Given the description of an element on the screen output the (x, y) to click on. 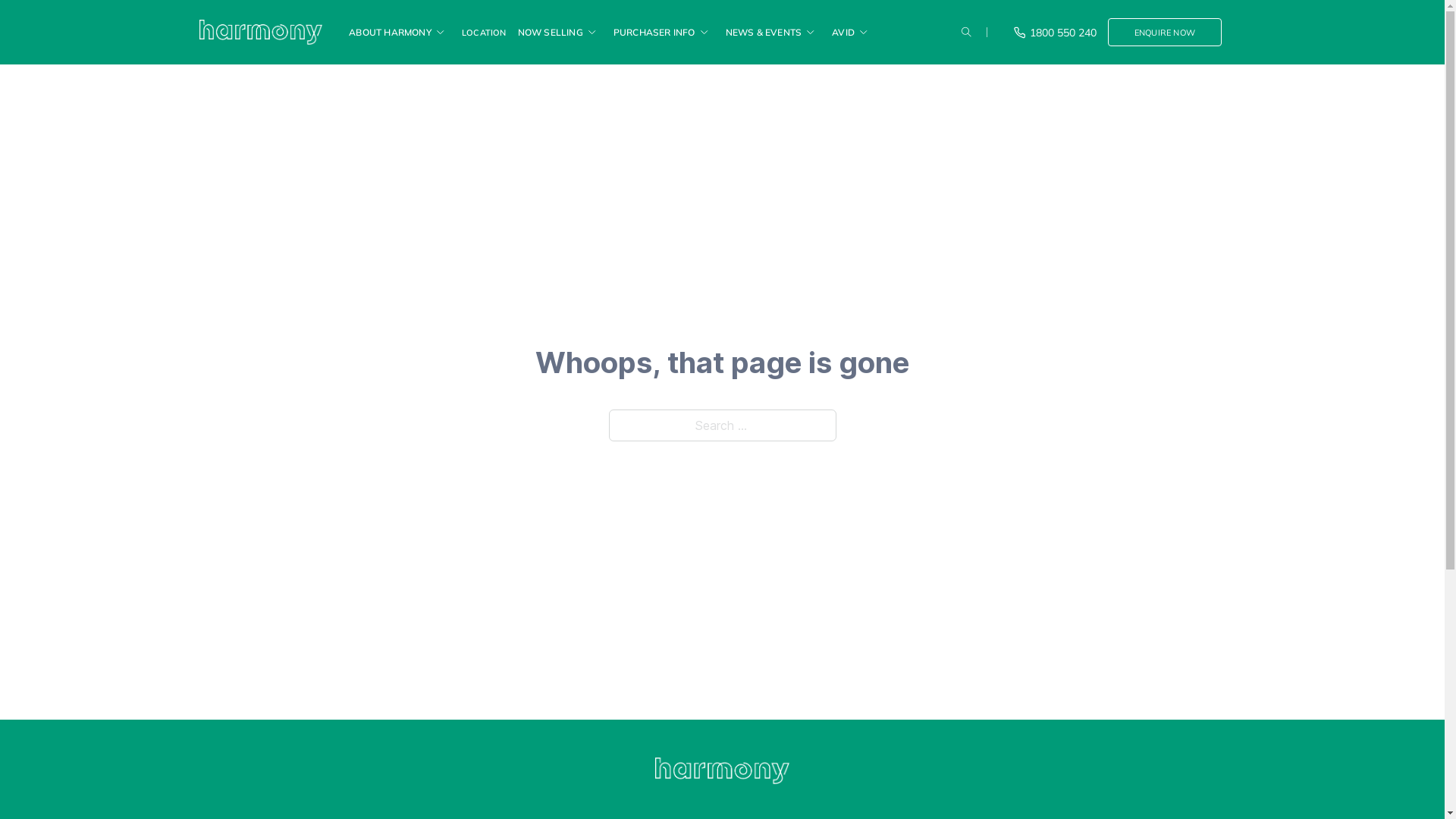
ABOUT HARMONY Element type: text (389, 31)
1800 550 240 Element type: text (1054, 32)
NOW SELLING Element type: text (550, 31)
AVID Element type: text (842, 31)
NEWS & EVENTS Element type: text (763, 31)
ENQUIRE NOW Element type: text (1164, 32)
LOCATION Element type: text (483, 31)
PURCHASER INFO Element type: text (654, 31)
